Given the description of an element on the screen output the (x, y) to click on. 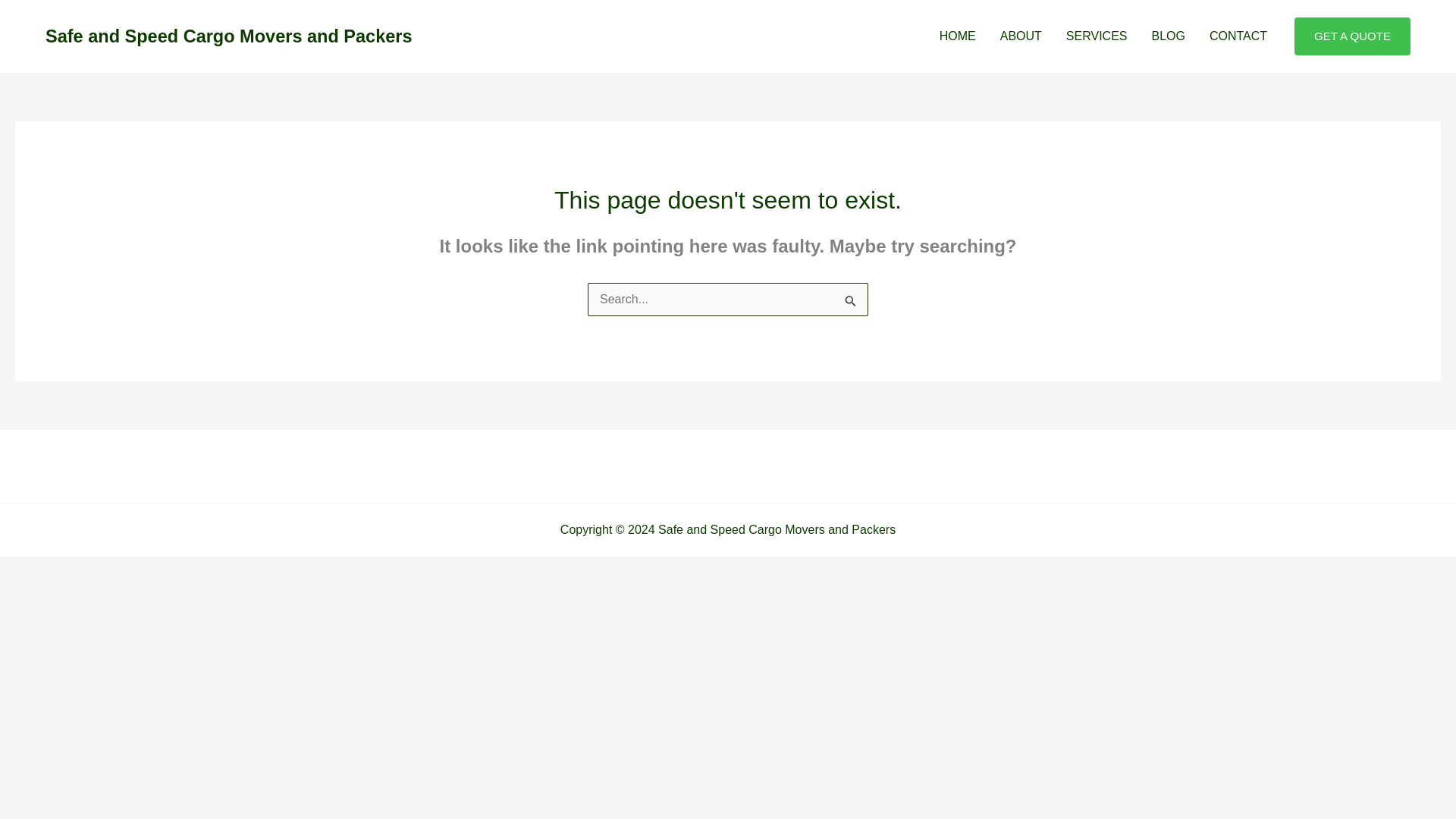
Safe and Speed Cargo Movers and Packers (228, 35)
ABOUT (1021, 36)
GET A QUOTE (1352, 35)
CONTACT (1237, 36)
SERVICES (1097, 36)
